Given the description of an element on the screen output the (x, y) to click on. 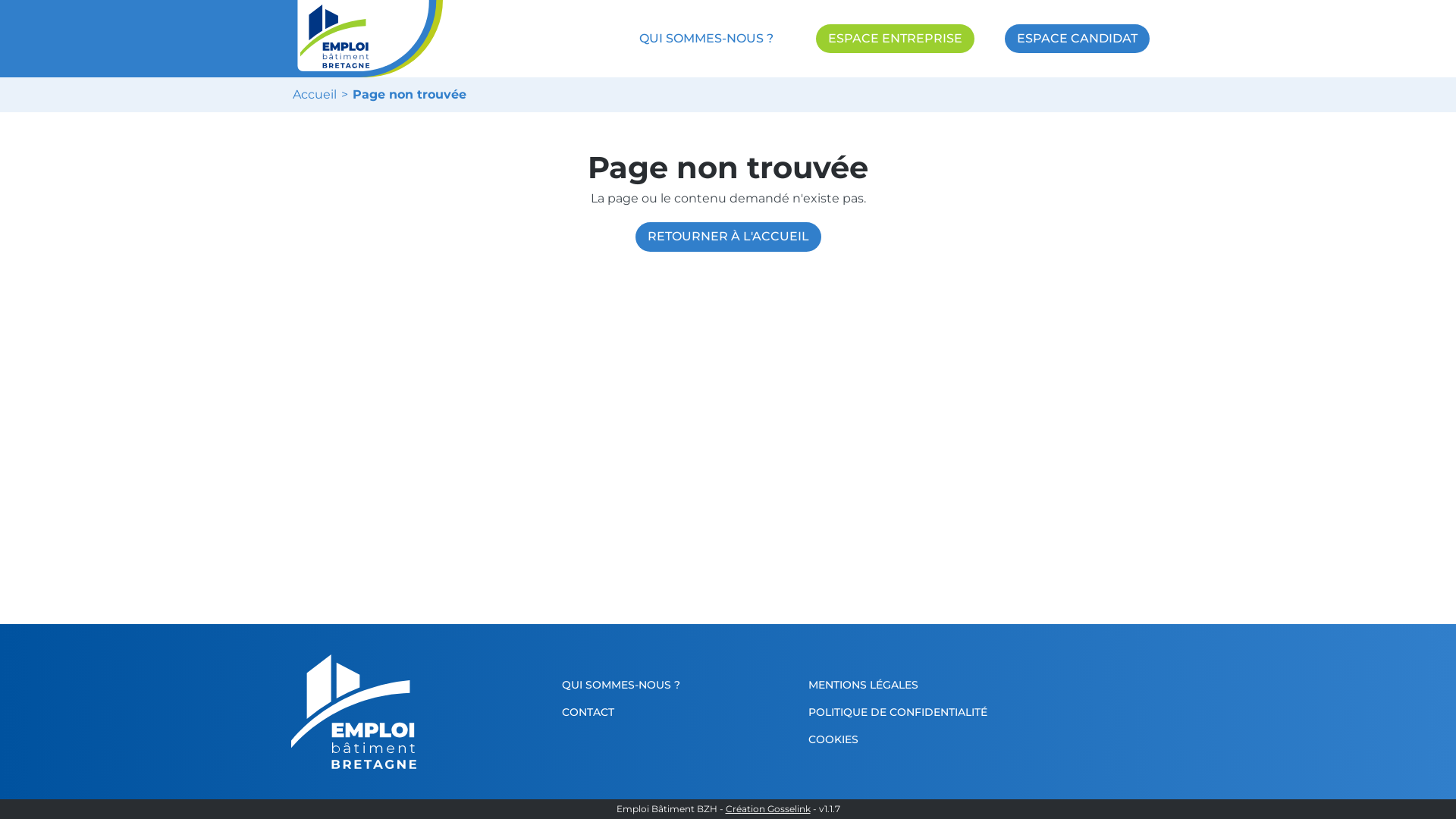
Accueil Element type: text (322, 94)
ESPACE ENTREPRISE Element type: text (894, 38)
CONTACT Element type: text (678, 711)
QUI SOMMES-NOUS ? Element type: text (678, 684)
COOKIES Element type: text (924, 739)
ESPACE CANDIDAT Element type: text (1076, 38)
QUI SOMMES-NOUS ? Element type: text (706, 38)
